Given the description of an element on the screen output the (x, y) to click on. 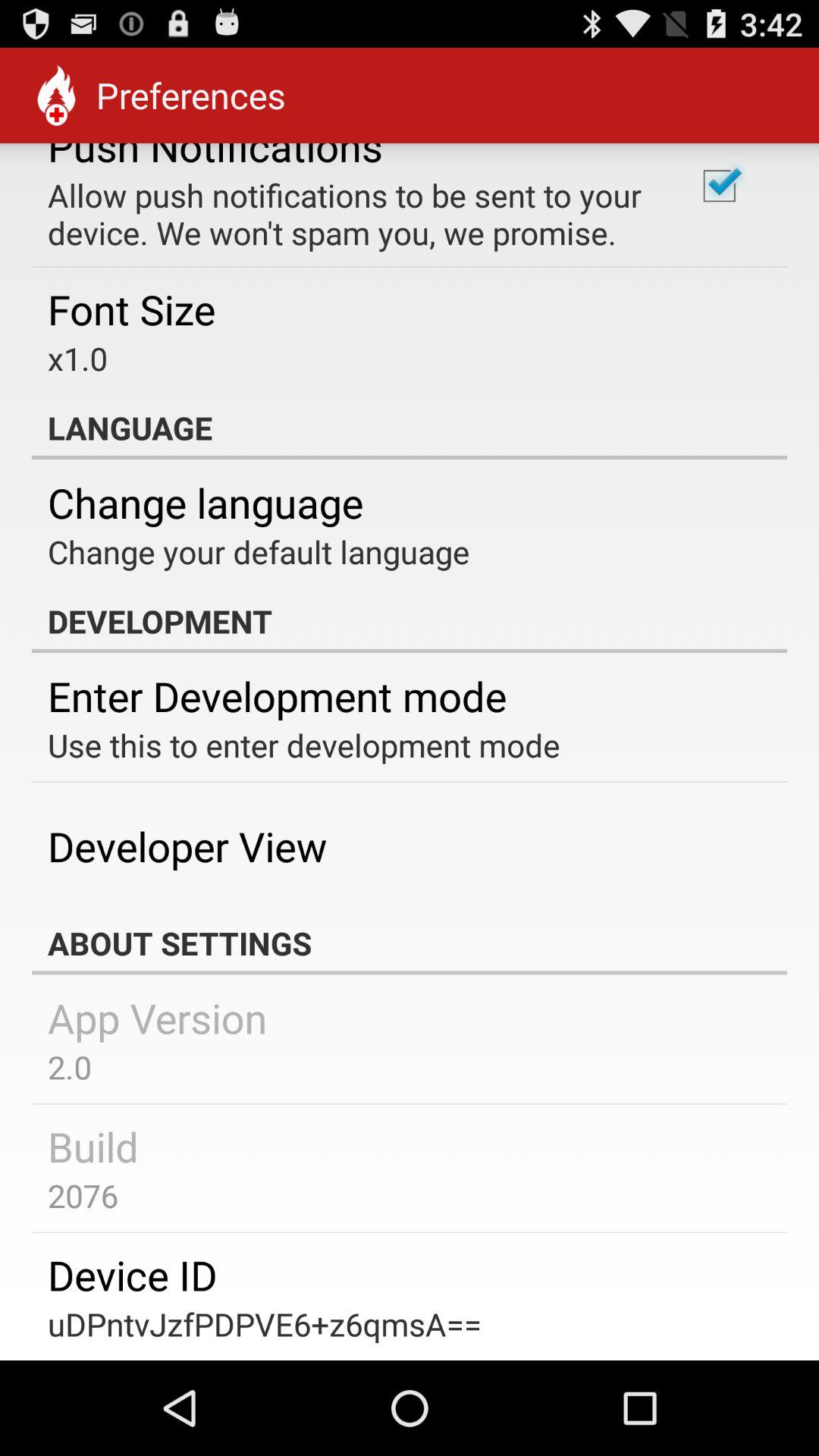
open device id icon (132, 1274)
